Given the description of an element on the screen output the (x, y) to click on. 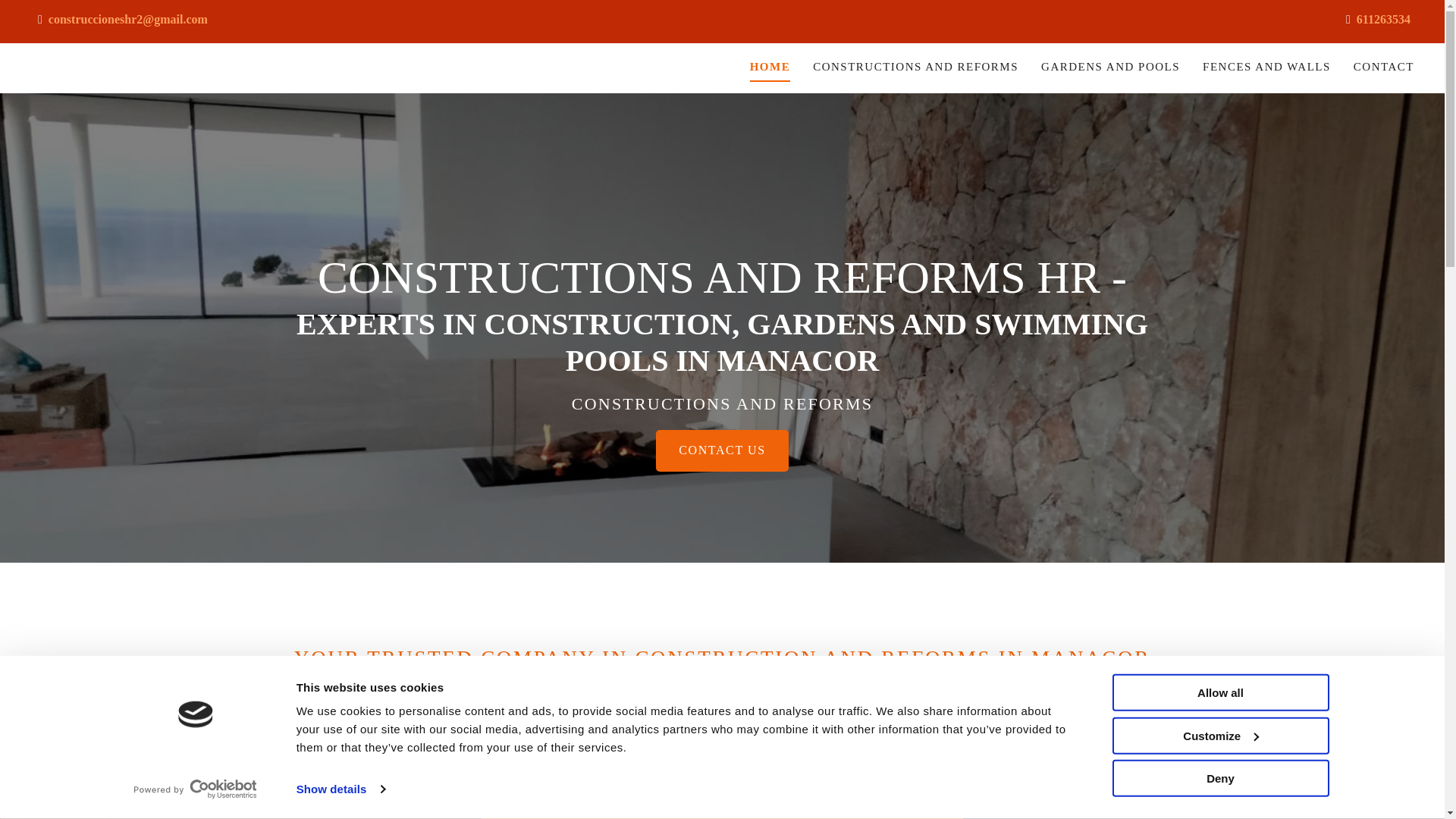
Show details (340, 789)
Customize (1219, 734)
Allow all (1219, 692)
Skip to content (47, 10)
Deny (1219, 778)
Skip to content (47, 10)
